Given the description of an element on the screen output the (x, y) to click on. 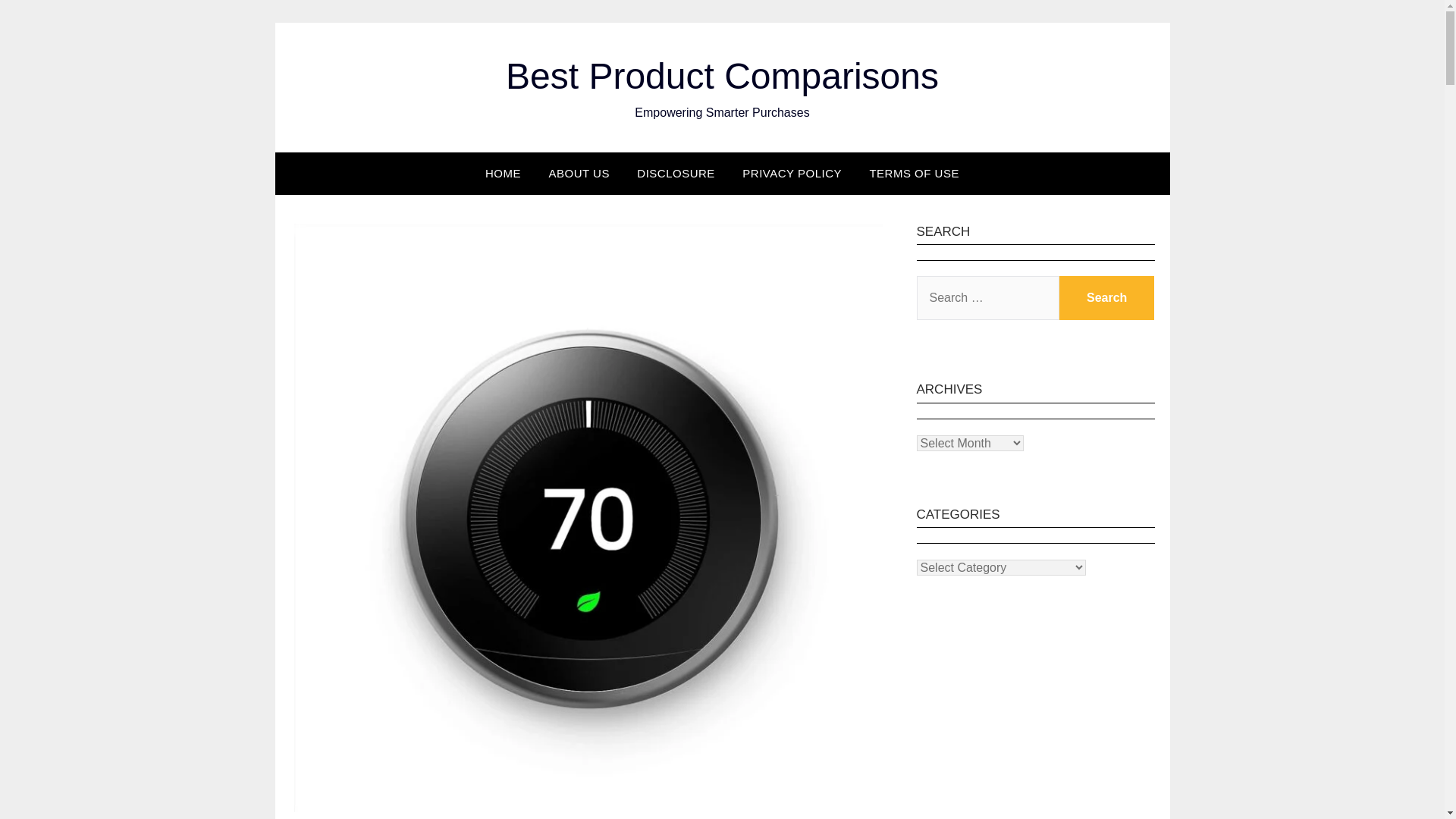
Search (1106, 298)
ABOUT US (578, 173)
Search (1106, 298)
PRIVACY POLICY (791, 173)
HOME (502, 173)
Best Product Comparisons (722, 76)
TERMS OF USE (914, 173)
DISCLOSURE (675, 173)
Search (1106, 298)
